Given the description of an element on the screen output the (x, y) to click on. 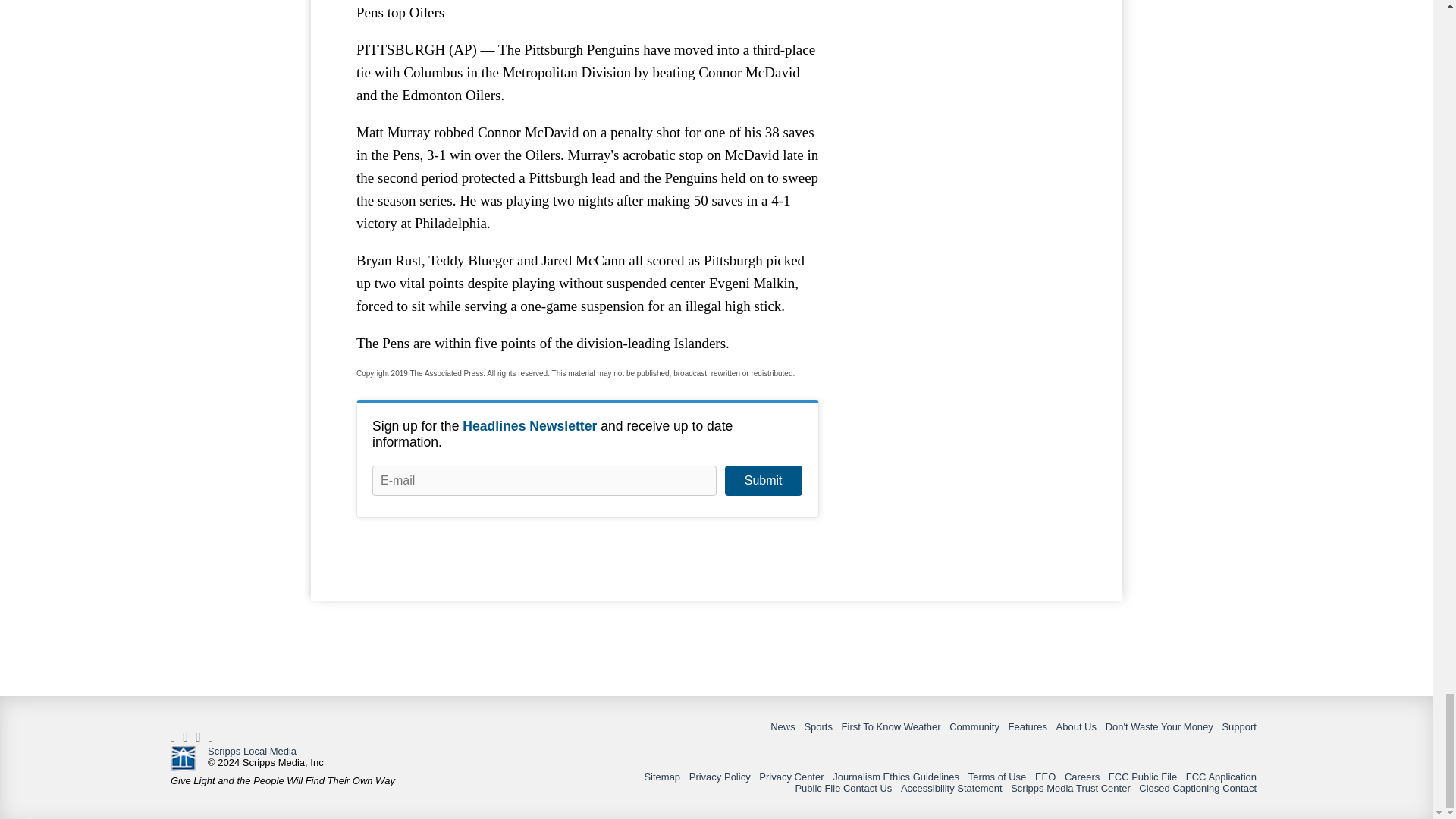
Submit (763, 481)
